Given the description of an element on the screen output the (x, y) to click on. 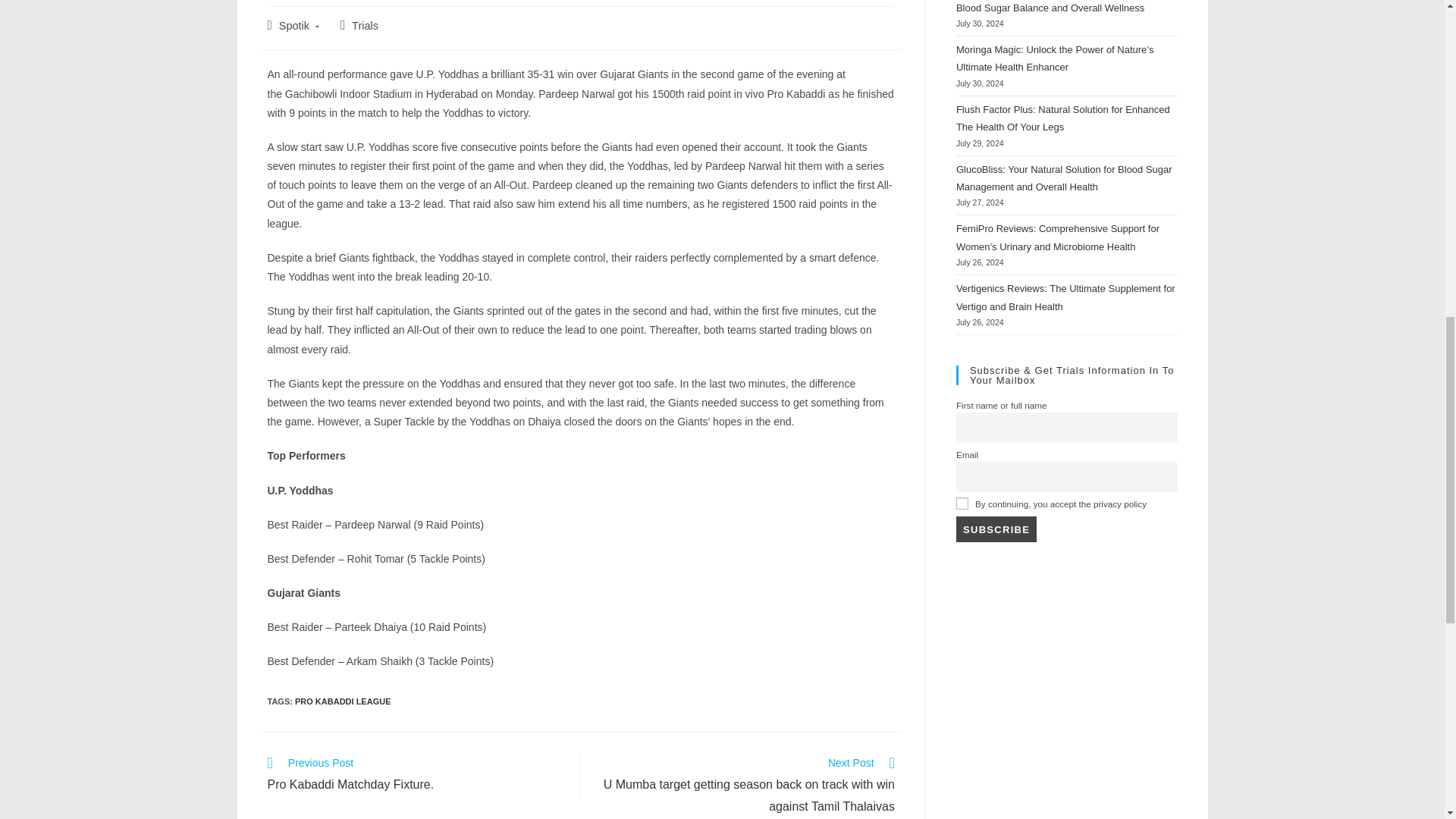
Subscribe (996, 528)
on (962, 503)
Posts by Spotik (293, 25)
PRO KABADDI LEAGUE (415, 775)
Trials (343, 700)
Spotik (365, 25)
